Given the description of an element on the screen output the (x, y) to click on. 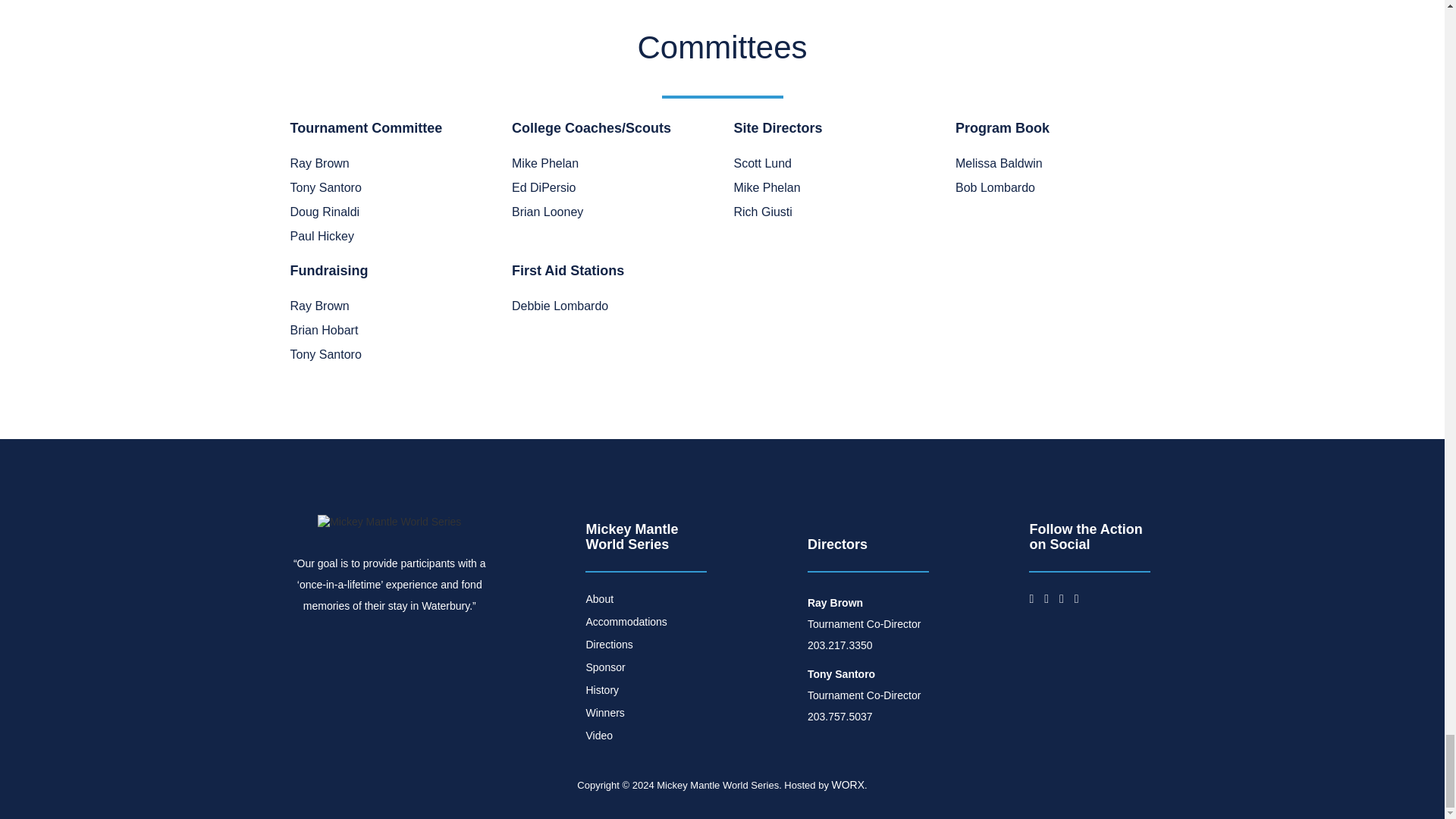
WORX (847, 784)
Sponsor (604, 667)
History (601, 690)
Video (598, 735)
203.217.3350 (840, 645)
Accommodations (625, 622)
Directions (608, 645)
203.757.5037 (840, 716)
Winners (604, 713)
About (598, 599)
